Given the description of an element on the screen output the (x, y) to click on. 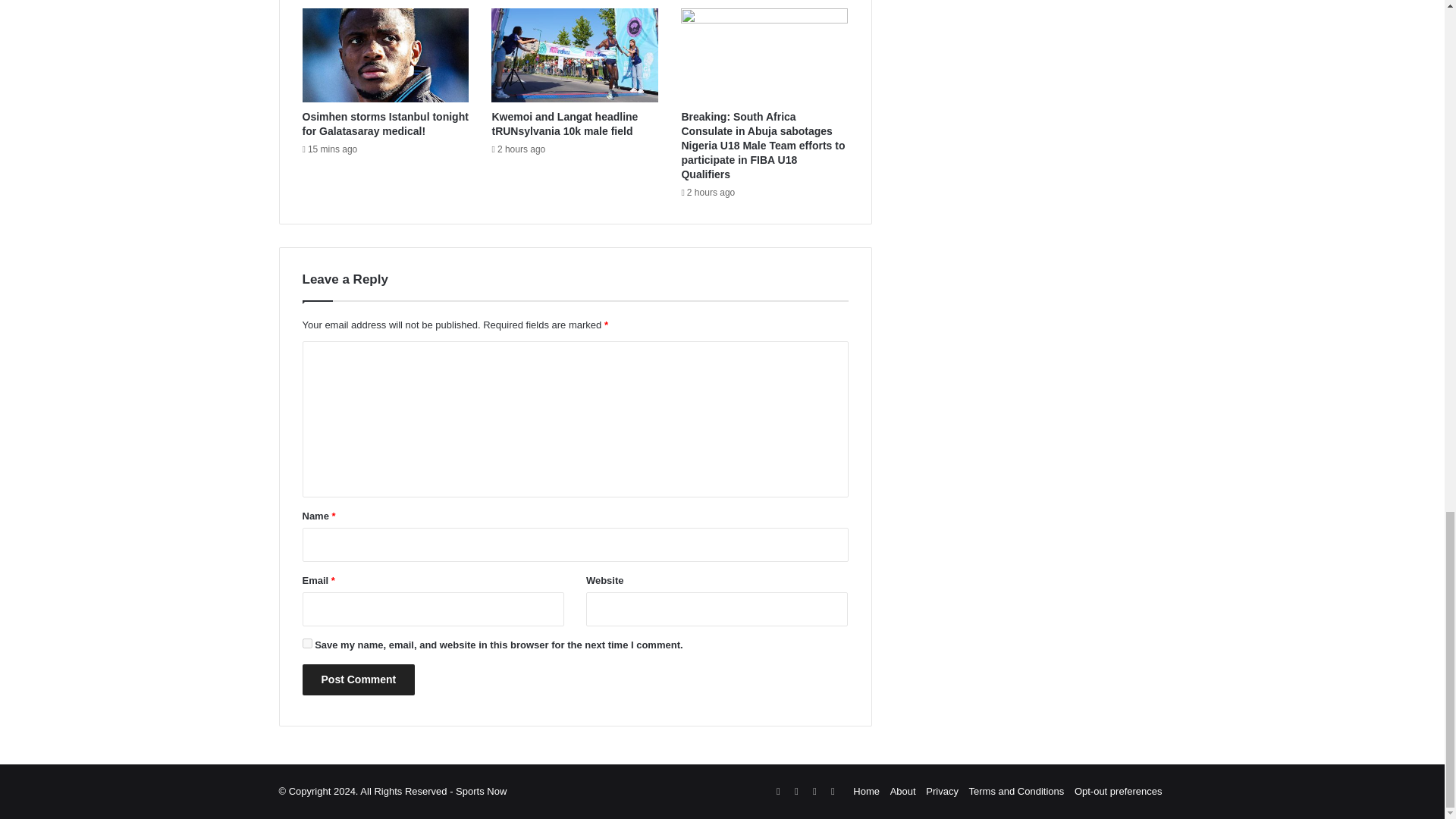
Osimhen storms Istanbul tonight for Galatasaray medical! (384, 123)
yes (306, 643)
Post Comment (357, 679)
